Given the description of an element on the screen output the (x, y) to click on. 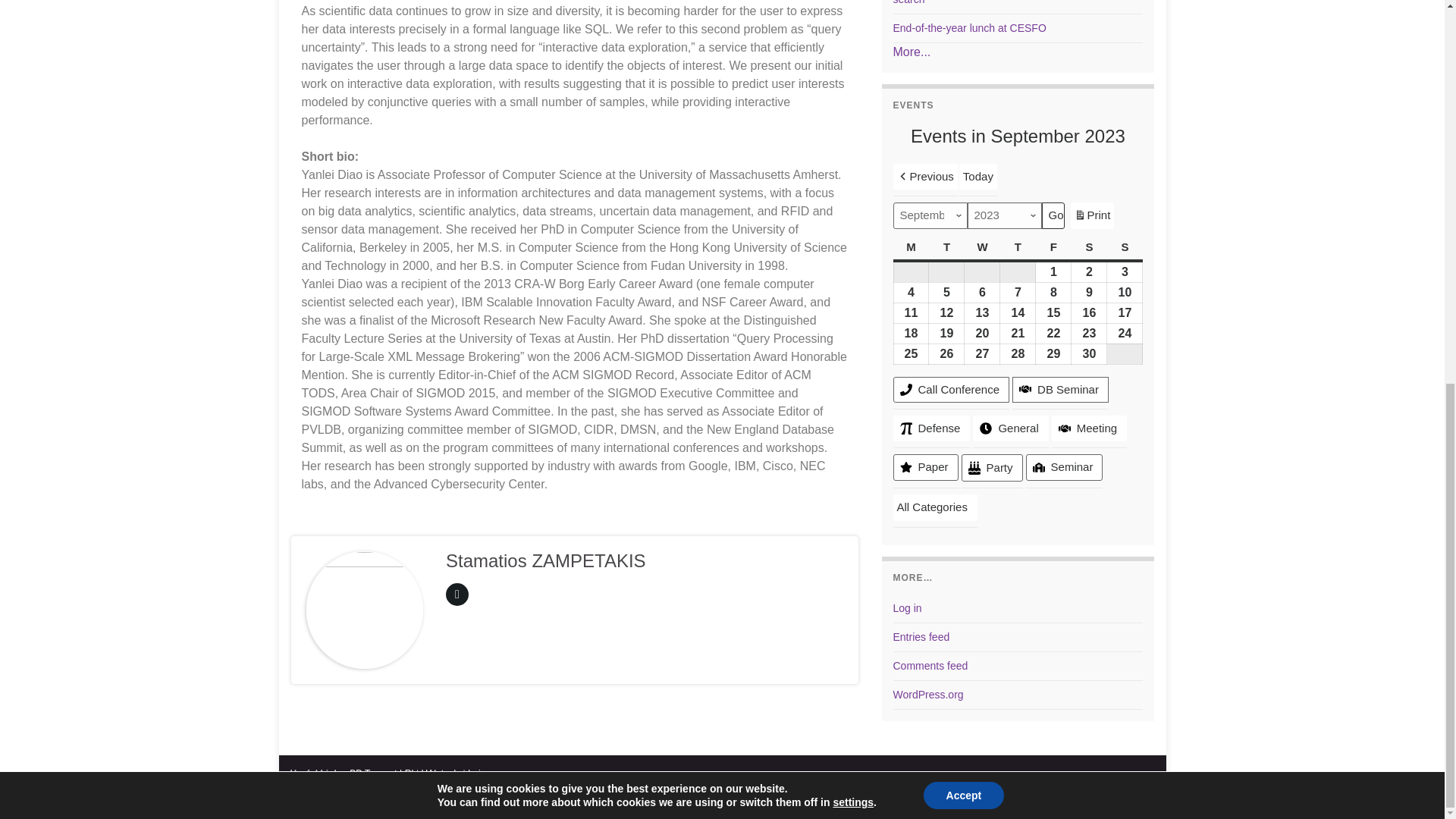
More... (912, 51)
Previous (925, 176)
End-of-the-year lunch at CESFO (969, 28)
Today (978, 176)
